Given the description of an element on the screen output the (x, y) to click on. 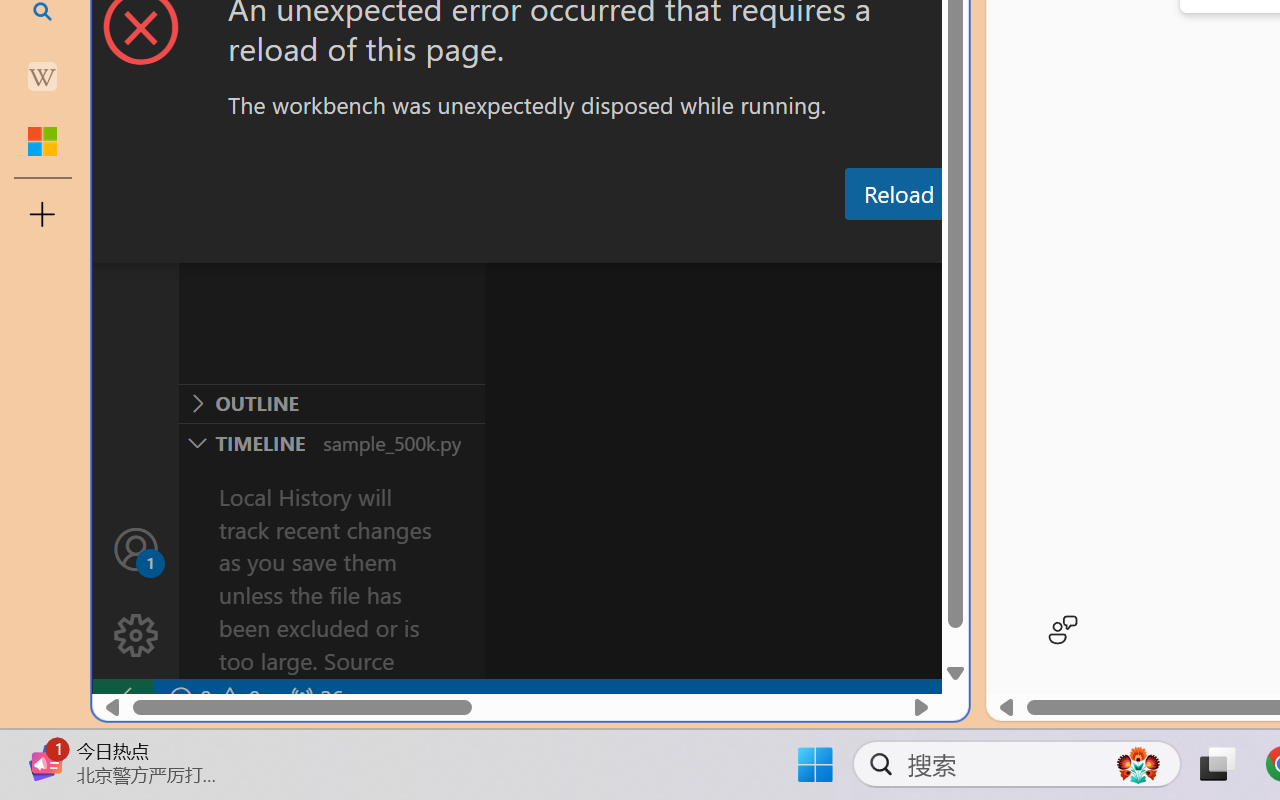
Terminal (Ctrl+`) (1021, 243)
Outline Section (331, 403)
Timeline Section (331, 442)
remote (122, 698)
Accounts - Sign in requested (135, 548)
Output (Ctrl+Shift+U) (696, 243)
